Given the description of an element on the screen output the (x, y) to click on. 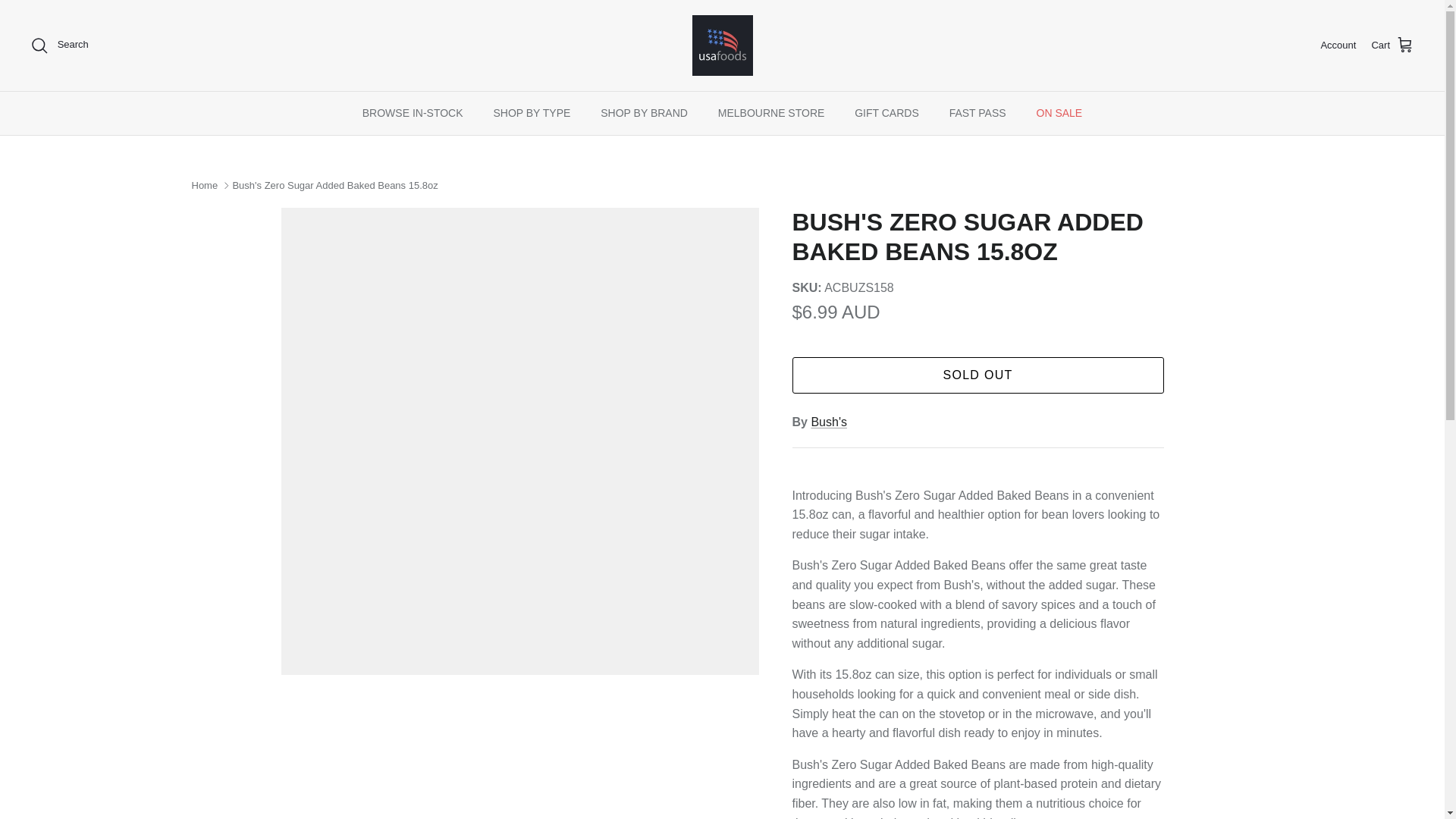
Cart (1392, 45)
BROWSE IN-STOCK (413, 113)
Account (1337, 45)
USAFoods (721, 45)
Search (59, 45)
SHOP BY TYPE (531, 113)
